Given the description of an element on the screen output the (x, y) to click on. 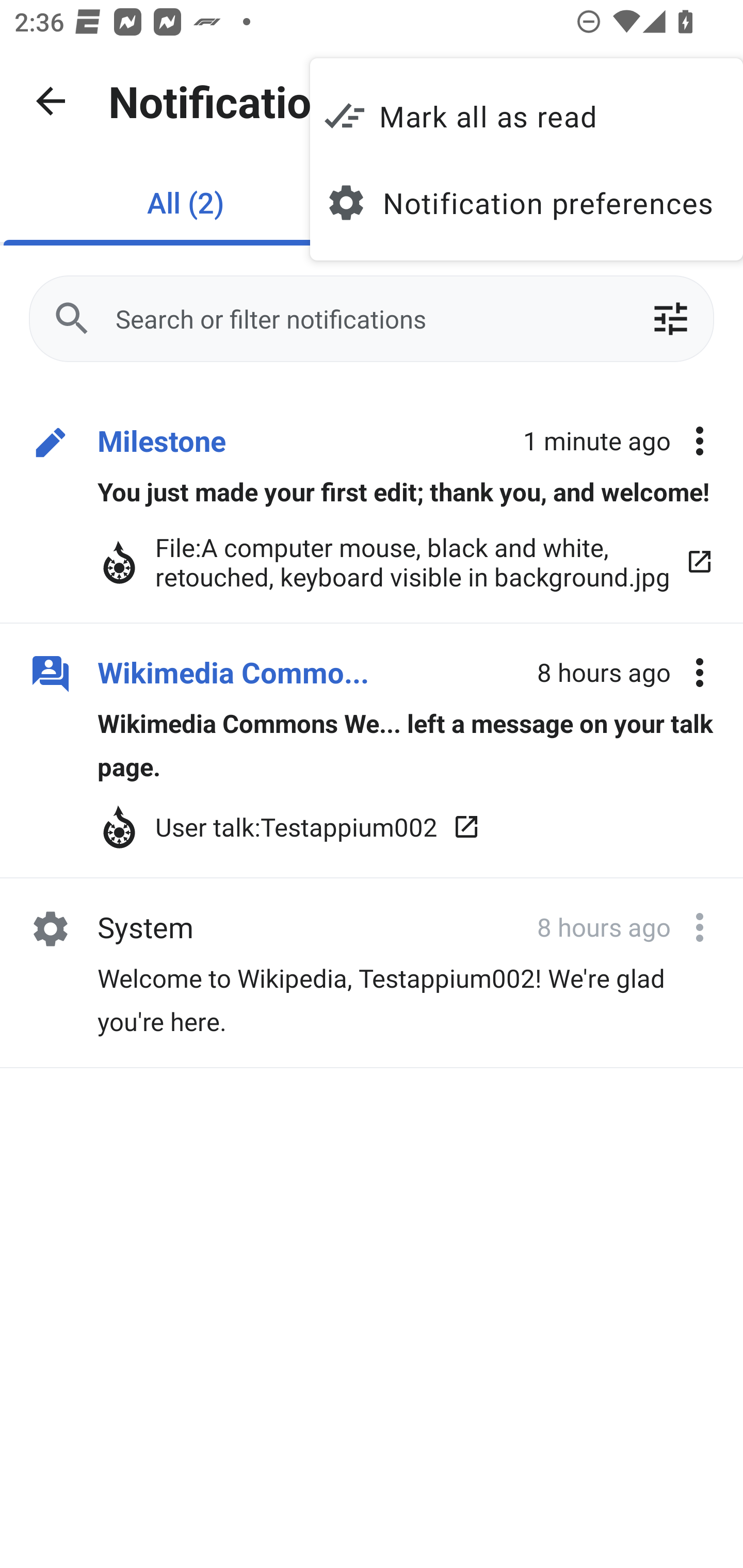
Mark all as read (526, 115)
Notification preferences (526, 202)
